Given the description of an element on the screen output the (x, y) to click on. 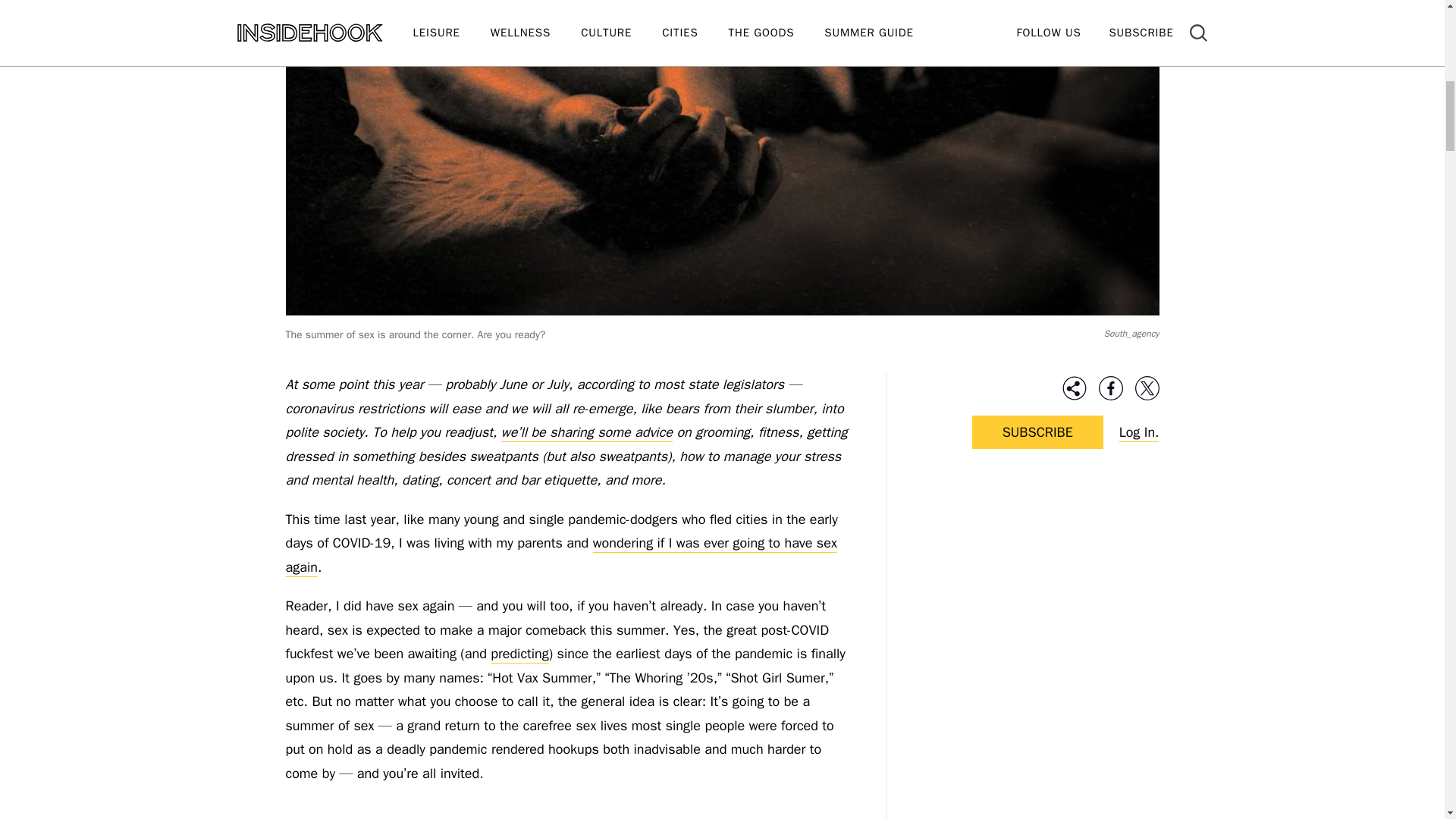
3rd party ad content (1037, 580)
